Given the description of an element on the screen output the (x, y) to click on. 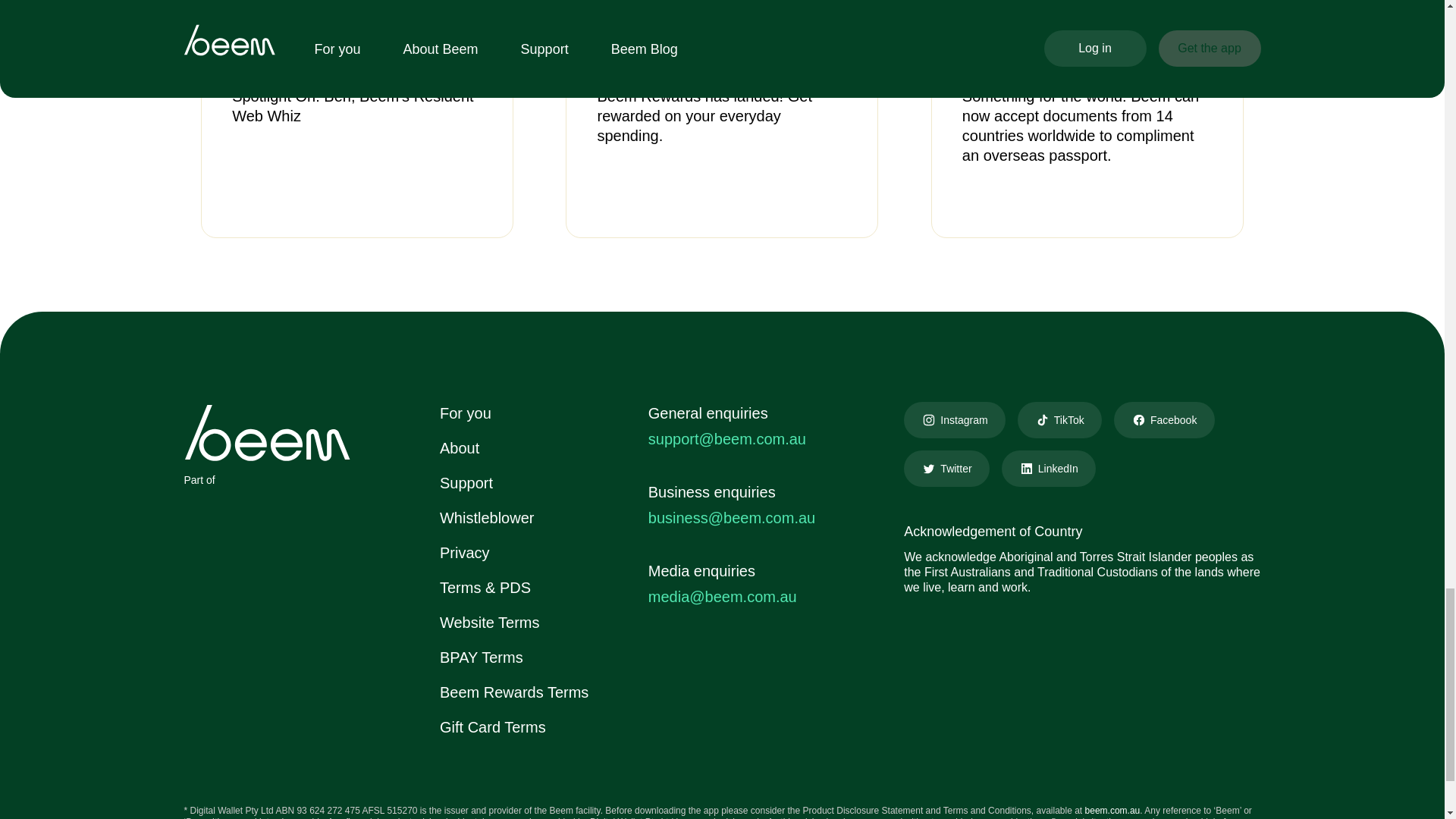
Privacy (464, 552)
Facebook (1163, 420)
Gift Card Terms (492, 727)
BPAY Terms (480, 657)
Instagram (954, 420)
About (459, 447)
Beem Rewards Terms (513, 692)
Website Terms (489, 622)
For you (465, 412)
TikTok (1059, 420)
Whistleblower (486, 517)
Support (466, 483)
